Given the description of an element on the screen output the (x, y) to click on. 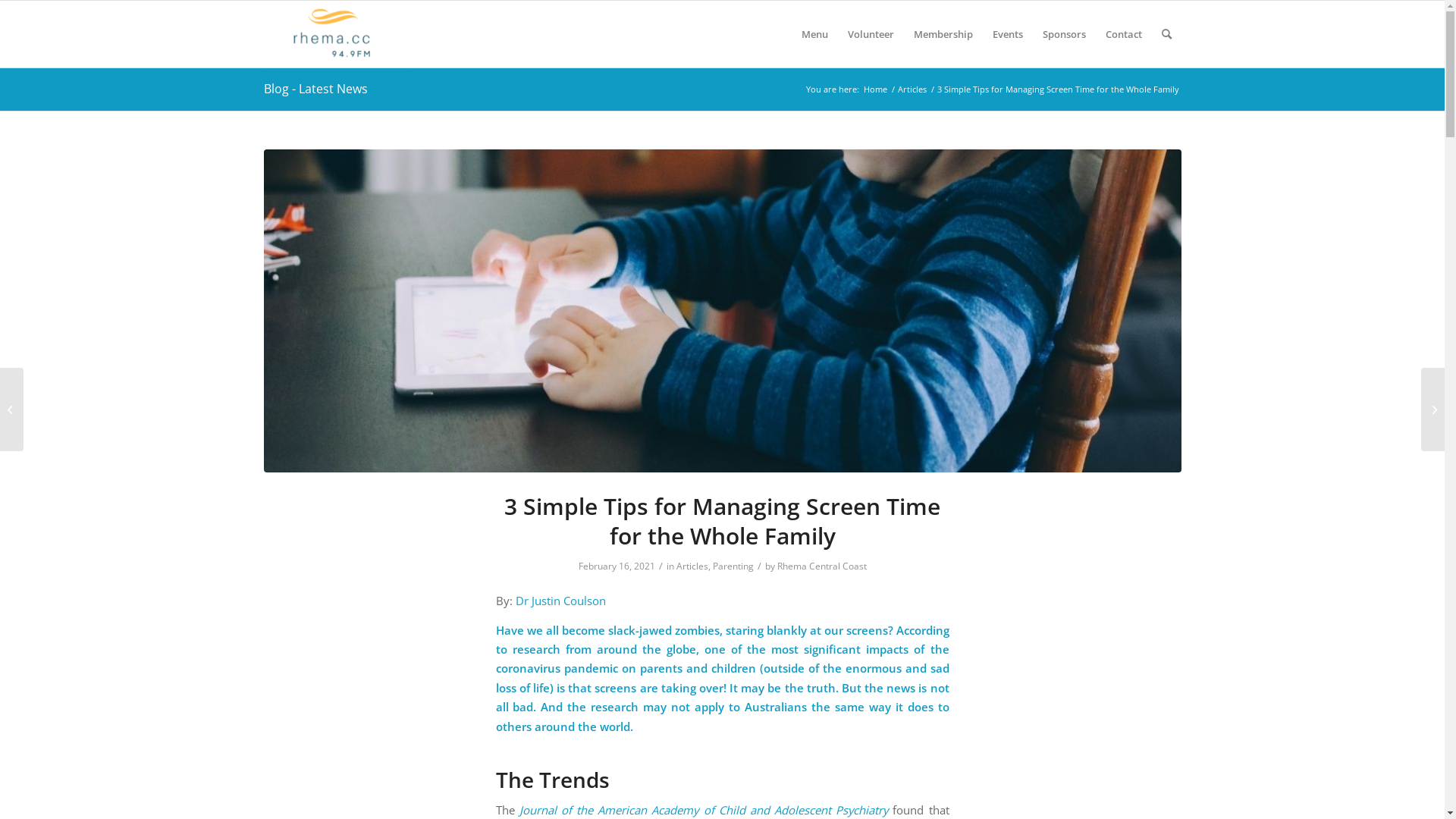
Rhema Central Coast Element type: text (821, 565)
Membership Element type: text (942, 33)
Home Element type: text (875, 88)
Dr Justin Coulson Element type: text (560, 600)
child-screen-time-kelly-sikkema-unsplash.jpg Element type: hover (722, 311)
Parenting Element type: text (732, 565)
Sponsors Element type: text (1063, 33)
Menu Element type: text (814, 33)
Events Element type: text (1007, 33)
Articles Element type: text (911, 88)
Articles Element type: text (692, 565)
Volunteer Element type: text (870, 33)
Contact Element type: text (1123, 33)
Blog - Latest News Element type: text (315, 88)
